Given the description of an element on the screen output the (x, y) to click on. 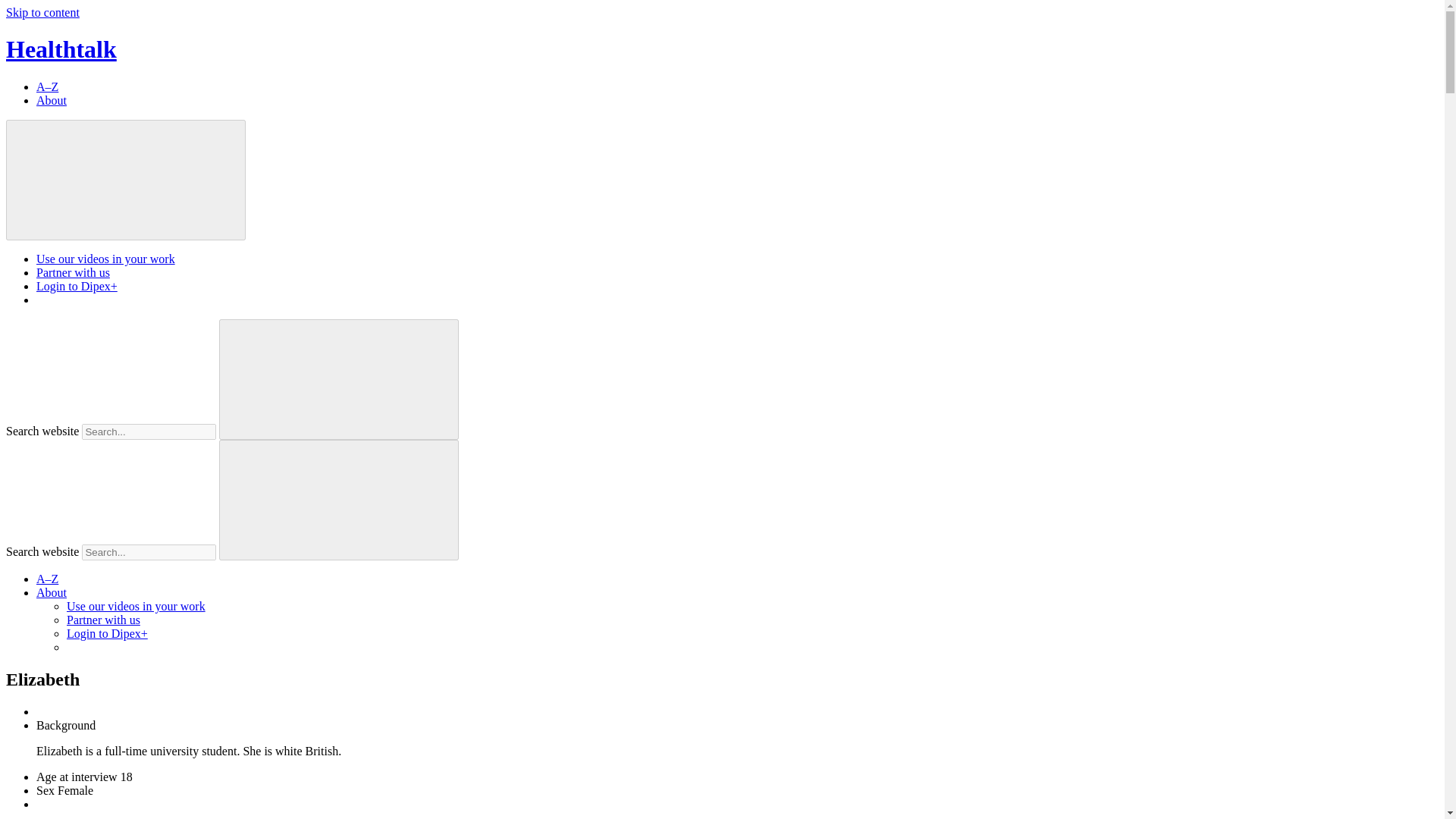
About (51, 100)
Search submit (338, 499)
Use our videos in your work (135, 605)
Partner with us (102, 619)
Use our videos in your work (105, 258)
About (51, 592)
Skip to content (42, 11)
Partner with us (73, 272)
Search submit (338, 379)
